Given the description of an element on the screen output the (x, y) to click on. 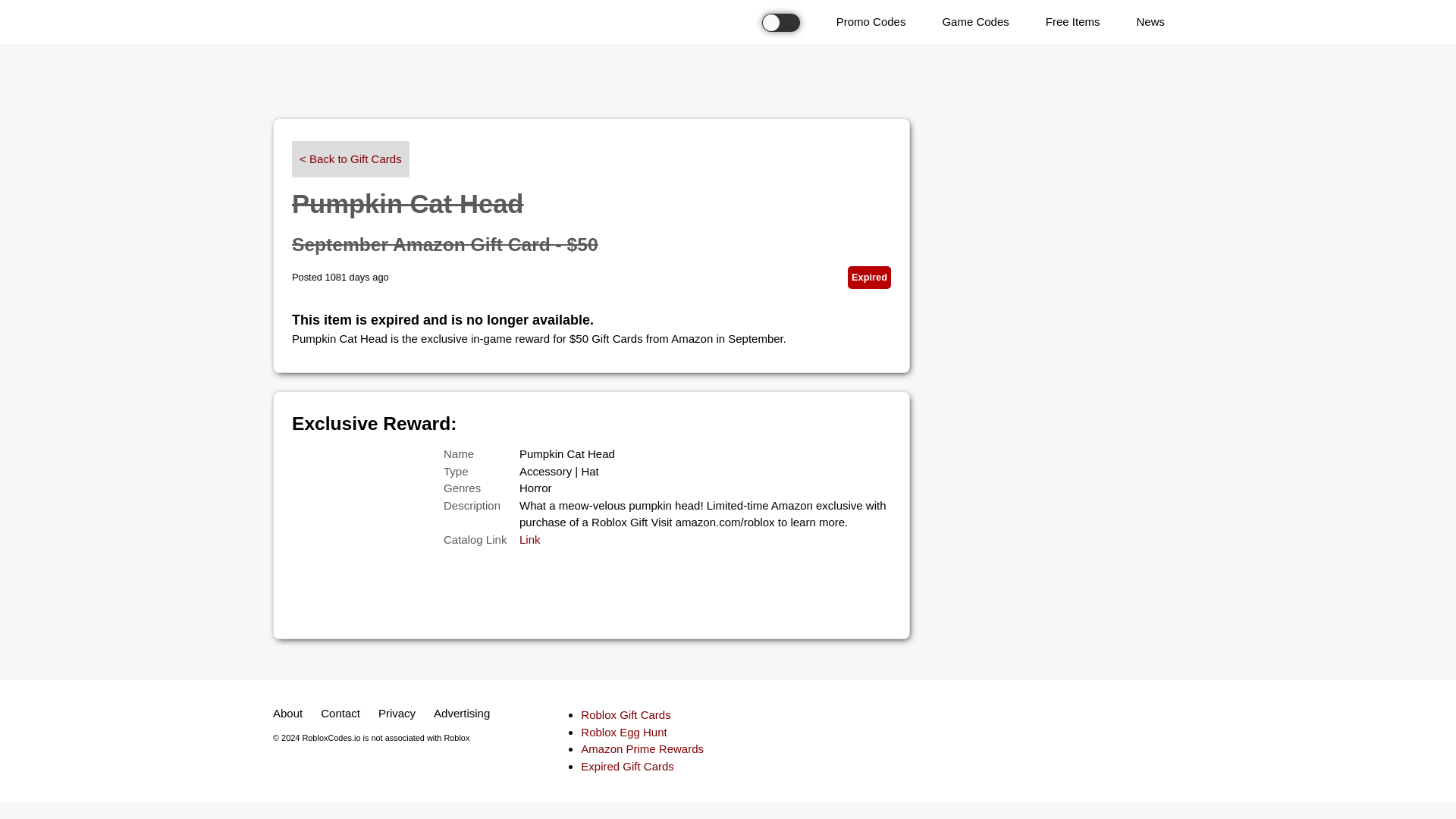
Advertising (462, 713)
Game Codes (974, 22)
Promo Codes (871, 22)
About (287, 713)
Privacy (397, 713)
Roblox Promo Codes (871, 22)
Expired Gift Cards (627, 766)
News (1150, 22)
Roblox Egg Hunt (623, 731)
Link (529, 539)
